Given the description of an element on the screen output the (x, y) to click on. 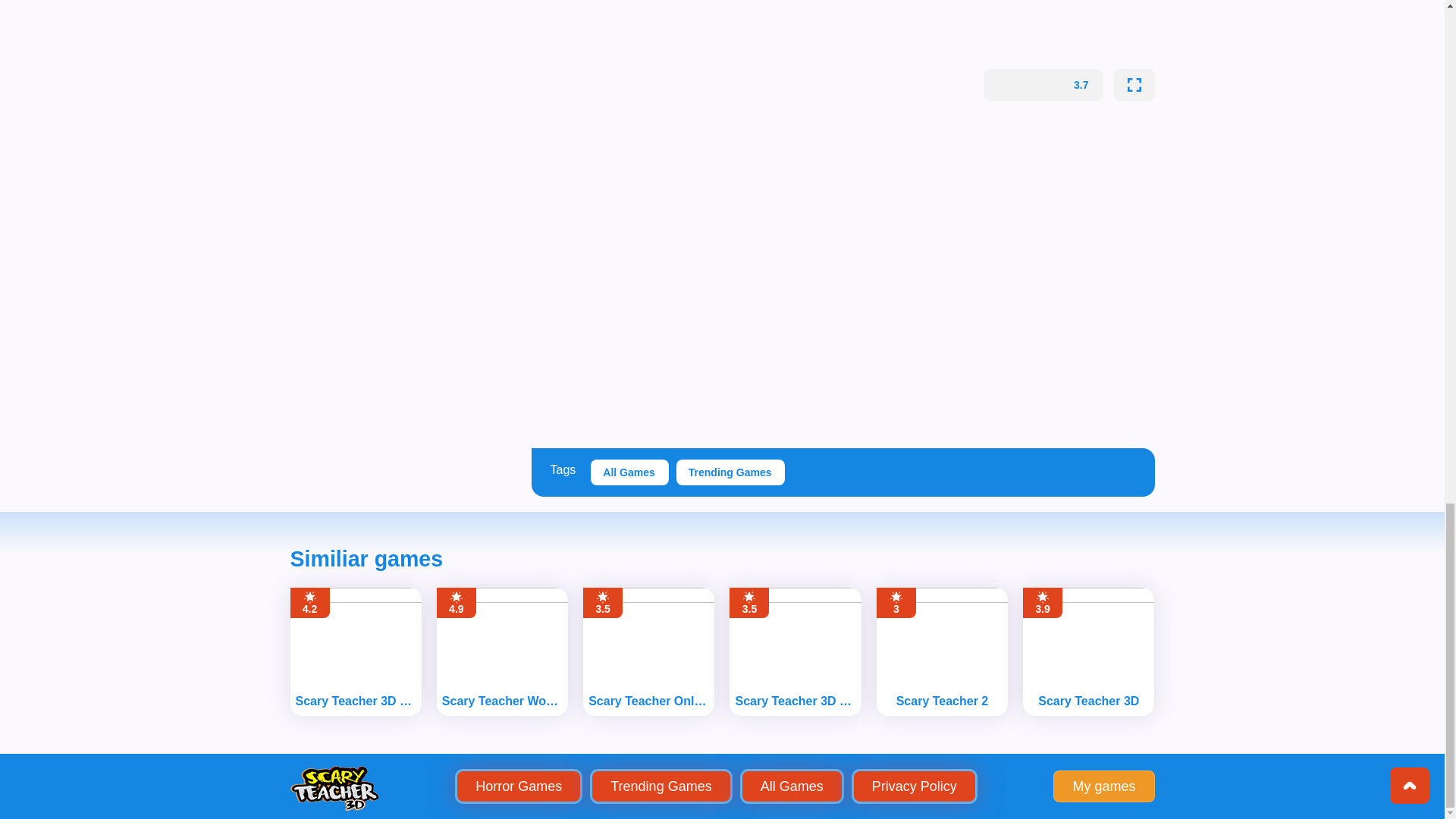
Scary Teacher 3D (1088, 700)
Trending Games (731, 472)
Scary Teacher 3D Chapter 3 (794, 700)
All Games (629, 472)
My games (1103, 786)
Scary Teacher 3D (1088, 700)
Scary Teacher 2 (942, 700)
Scary Teacher Online (648, 700)
Scary Teacher Online (648, 700)
Scary Teacher Word Game (501, 700)
Horror Games (518, 786)
Scary Teacher 2 (942, 700)
Privacy Policy (914, 786)
Scary Teacher 3D Chapter 3 (794, 700)
Scary Teacher 3D Chapter 2 (354, 700)
